Given the description of an element on the screen output the (x, y) to click on. 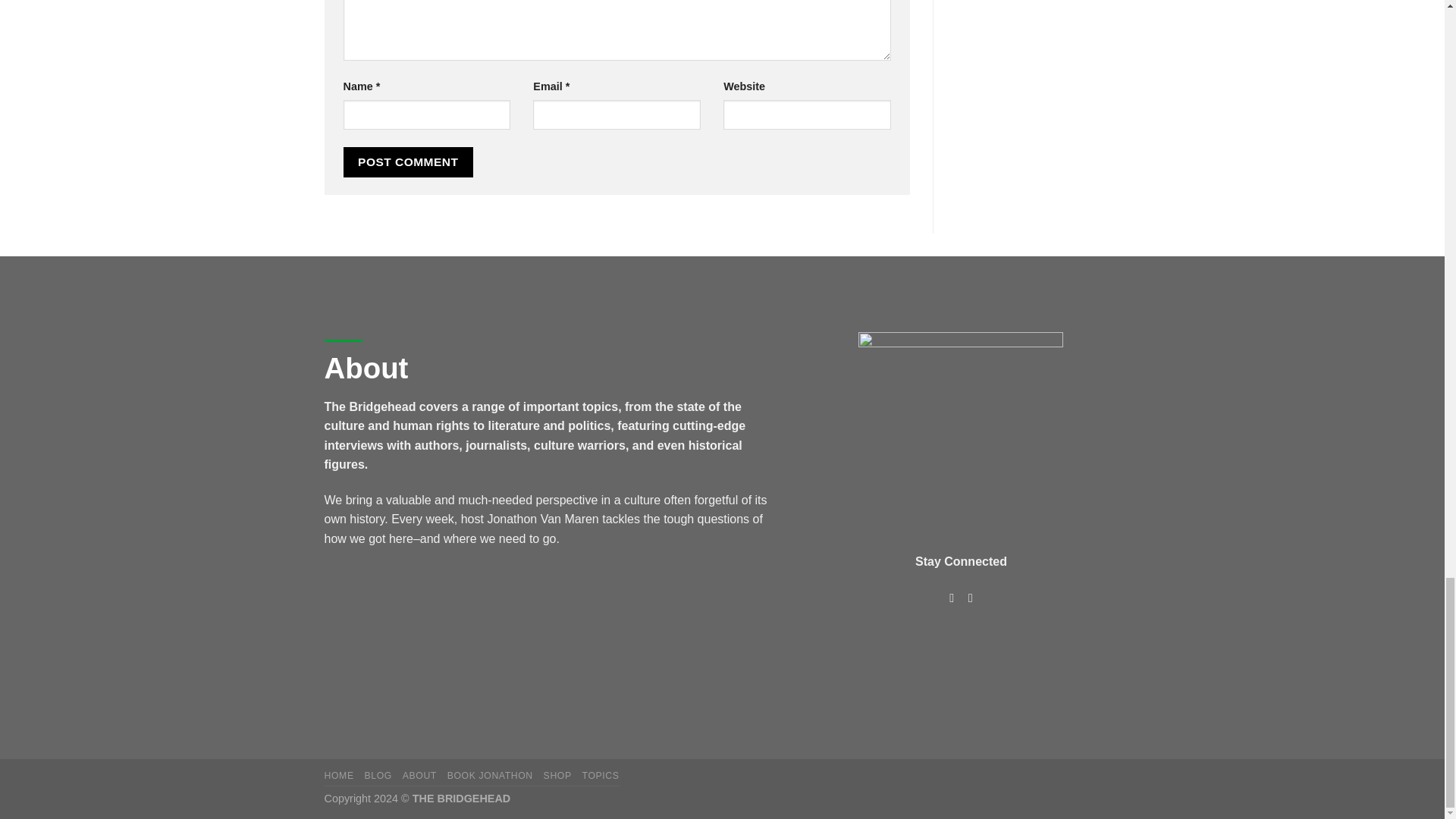
Post Comment (407, 161)
